Given the description of an element on the screen output the (x, y) to click on. 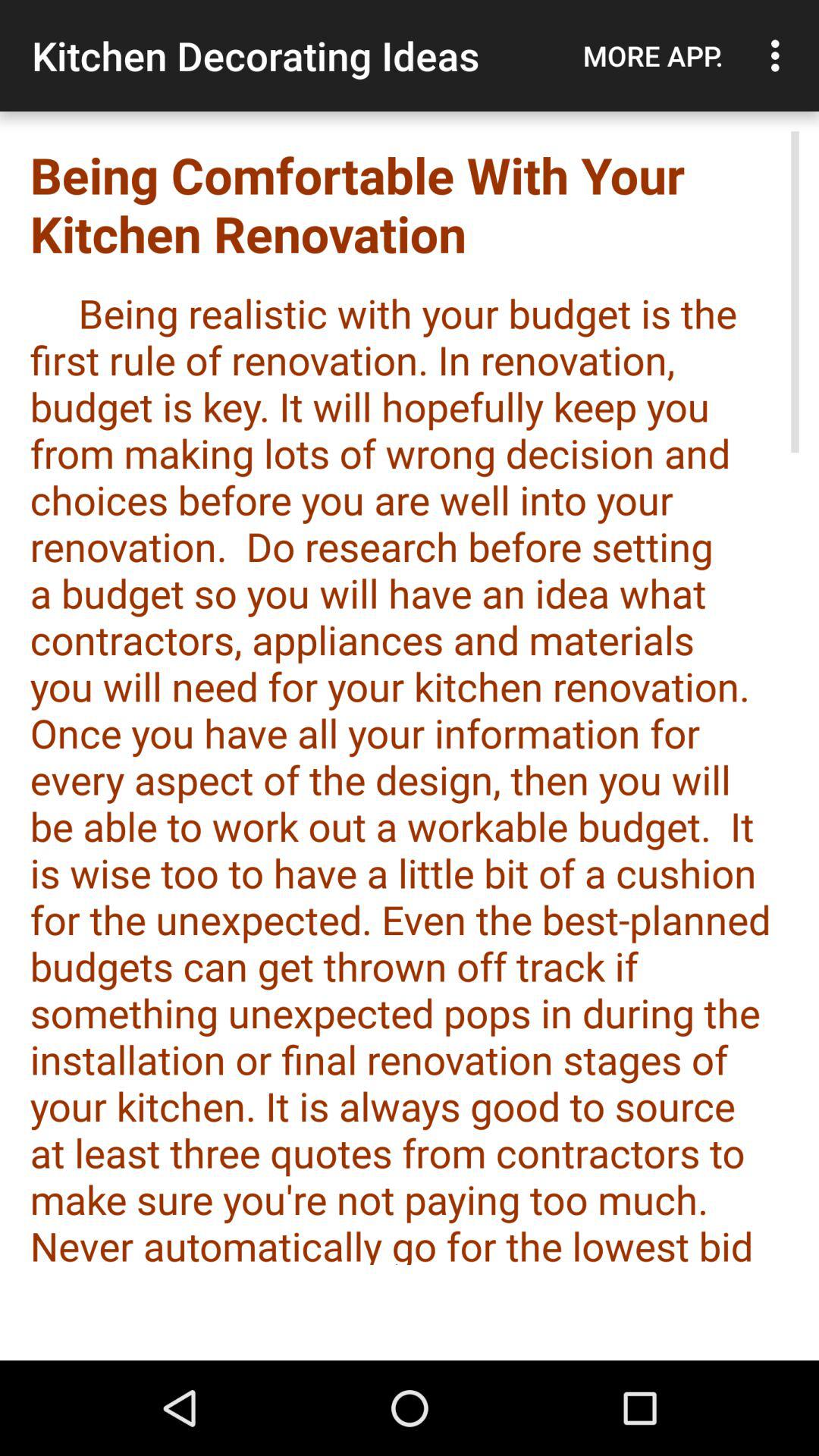
choose the icon to the right of the more app. (779, 55)
